Given the description of an element on the screen output the (x, y) to click on. 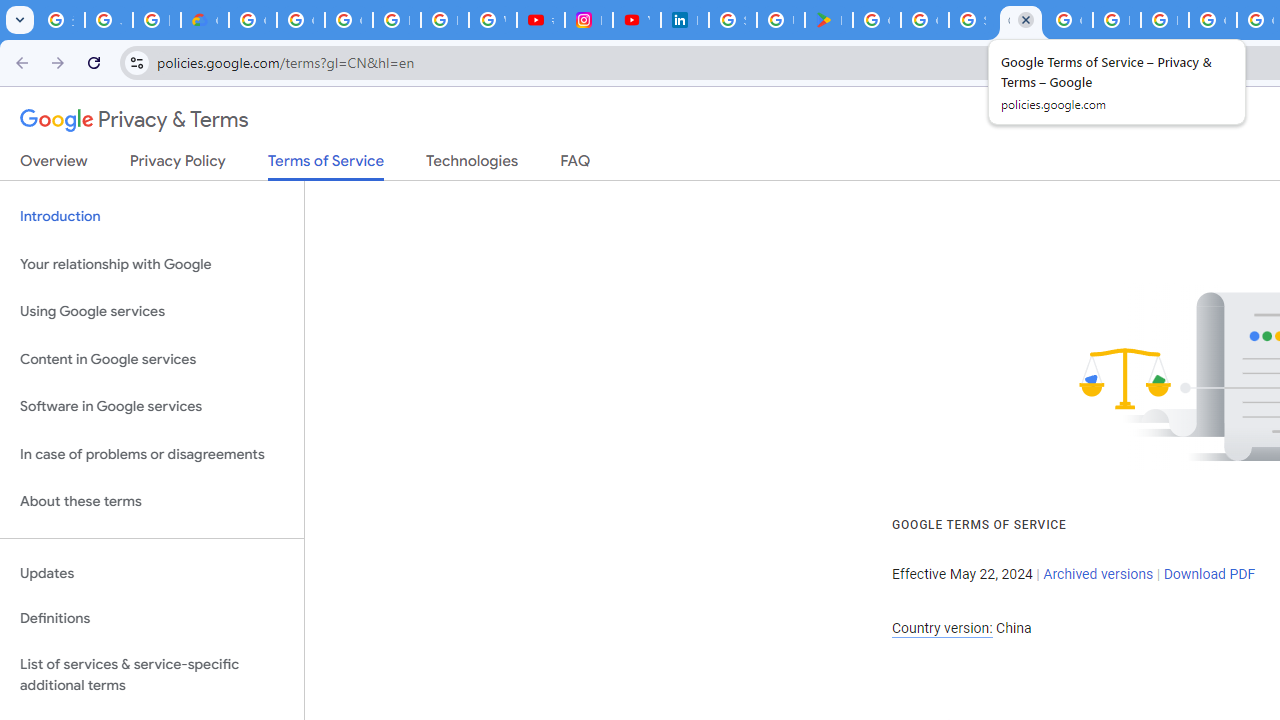
List of services & service-specific additional terms (152, 674)
Using Google services (152, 312)
Sign in - Google Accounts (972, 20)
